Given the description of an element on the screen output the (x, y) to click on. 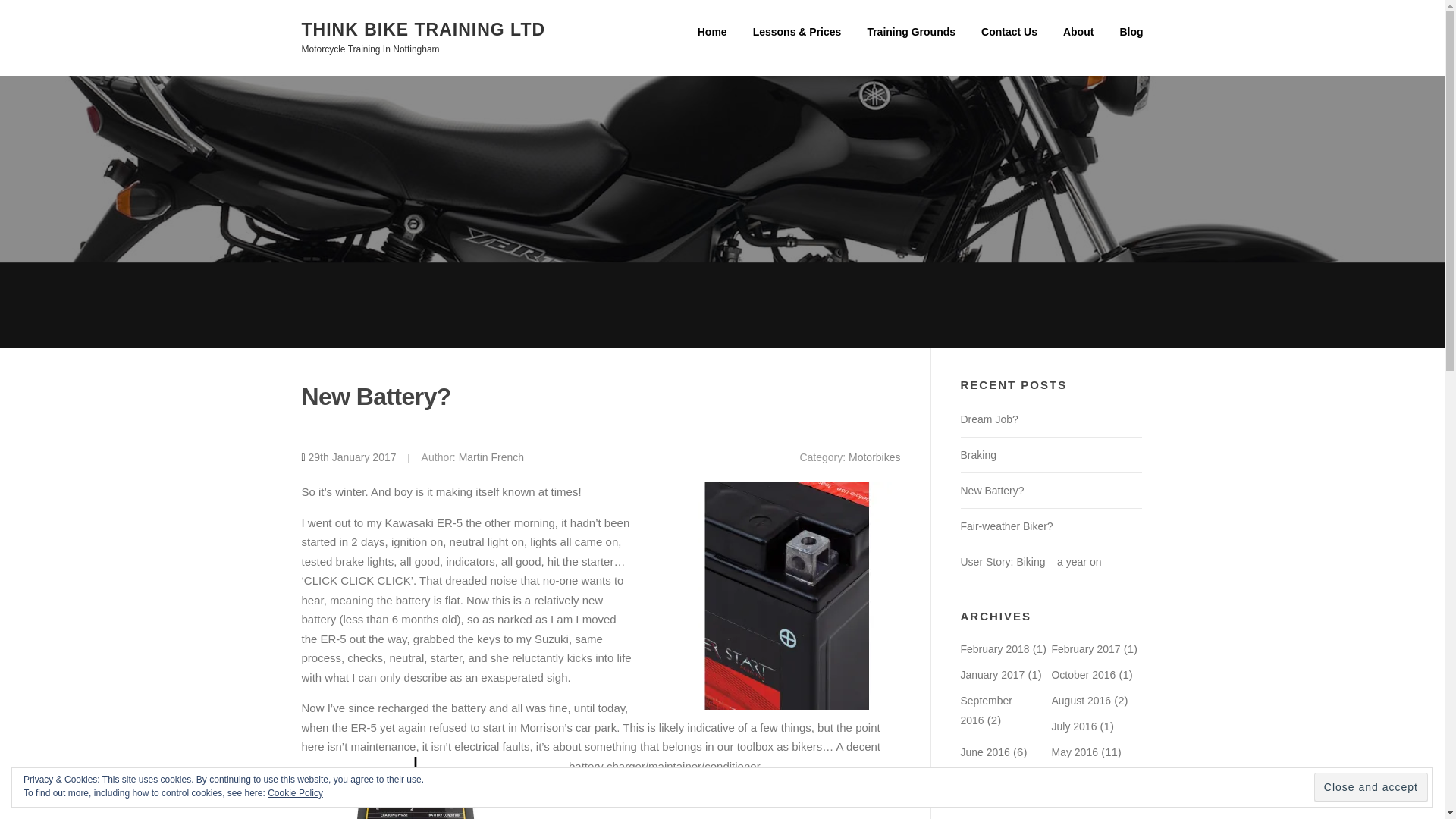
29th January 2017 (352, 457)
New Battery? (991, 490)
January 2017 (992, 674)
Close and accept (1371, 787)
Martin French (491, 457)
February 2018 (994, 648)
Fair-weather Biker? (1005, 526)
October 2016 (1083, 674)
Dream Job? (988, 419)
September 2016 (985, 710)
